Given the description of an element on the screen output the (x, y) to click on. 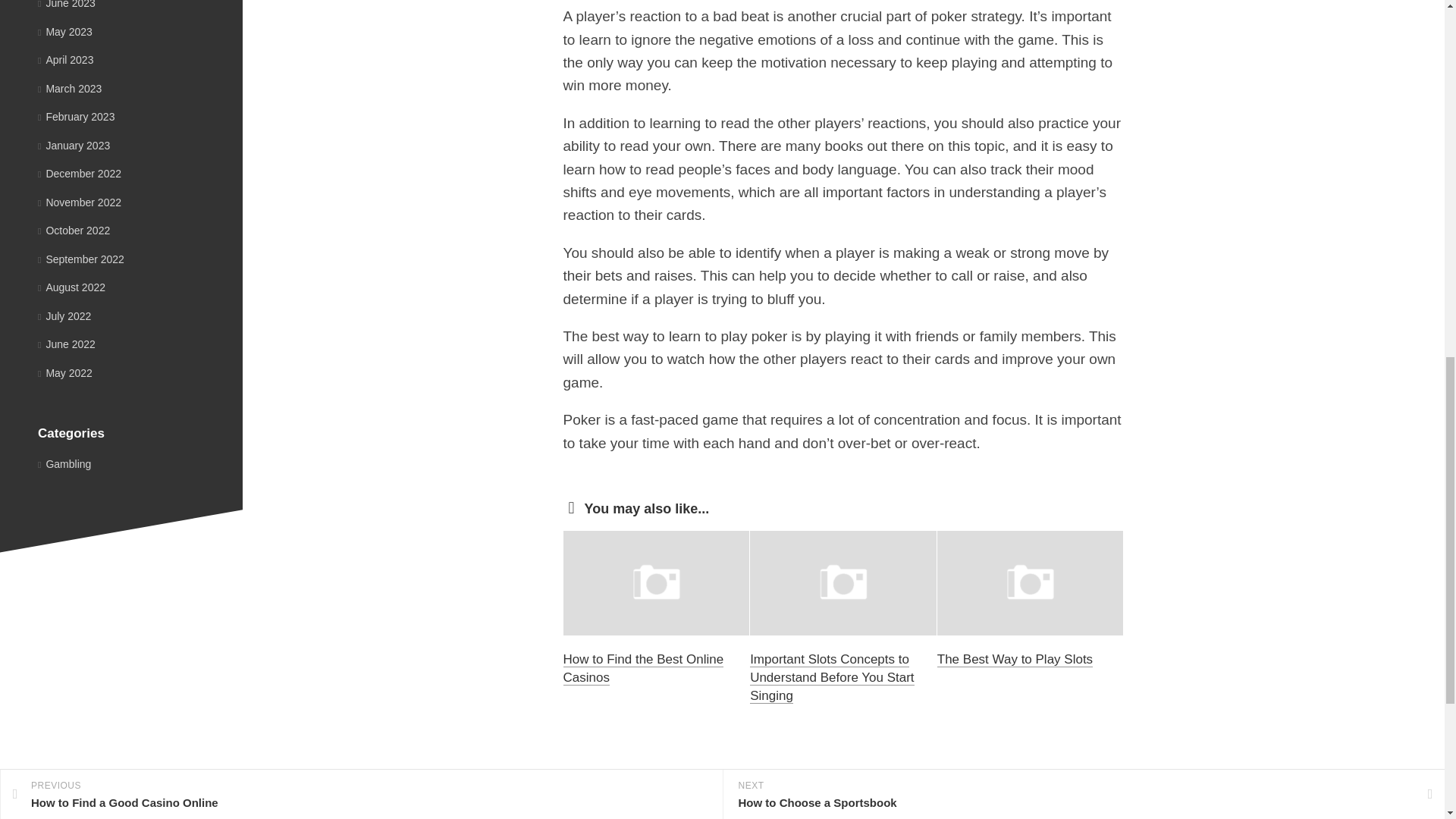
February 2023 (76, 116)
How to Find the Best Online Casinos (642, 667)
October 2022 (73, 230)
May 2023 (65, 31)
December 2022 (78, 173)
The Best Way to Play Slots (1015, 658)
June 2023 (66, 4)
March 2023 (69, 87)
January 2023 (73, 145)
